Given the description of an element on the screen output the (x, y) to click on. 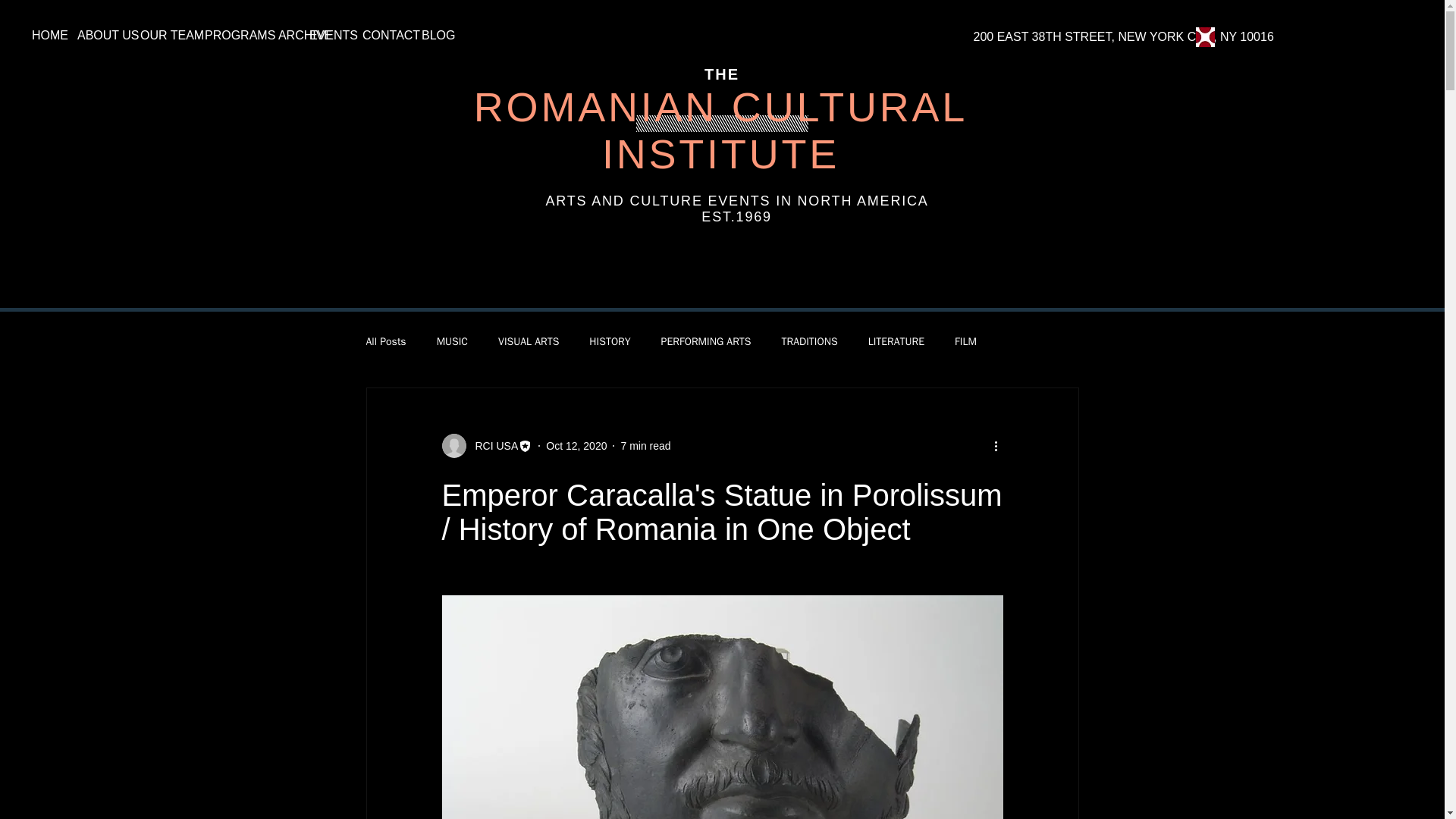
PERFORMING ARTS (706, 341)
VISUAL ARTS (528, 341)
ARTS AND CULTURE EVENTS IN NORTH AMERICA (737, 200)
ROMANIAN CULTURAL INSTITUTE (721, 130)
HOME (42, 35)
EVENTS (324, 35)
ABOUT US (97, 35)
200 EAST 38TH STREET, NEW YORK CITY, NY 10016 (1123, 36)
RCI USA (491, 446)
OUR TEAM (161, 35)
TRADITIONS (808, 341)
LITERATURE (895, 341)
7 min read (644, 445)
BLOG (431, 35)
